Given the description of an element on the screen output the (x, y) to click on. 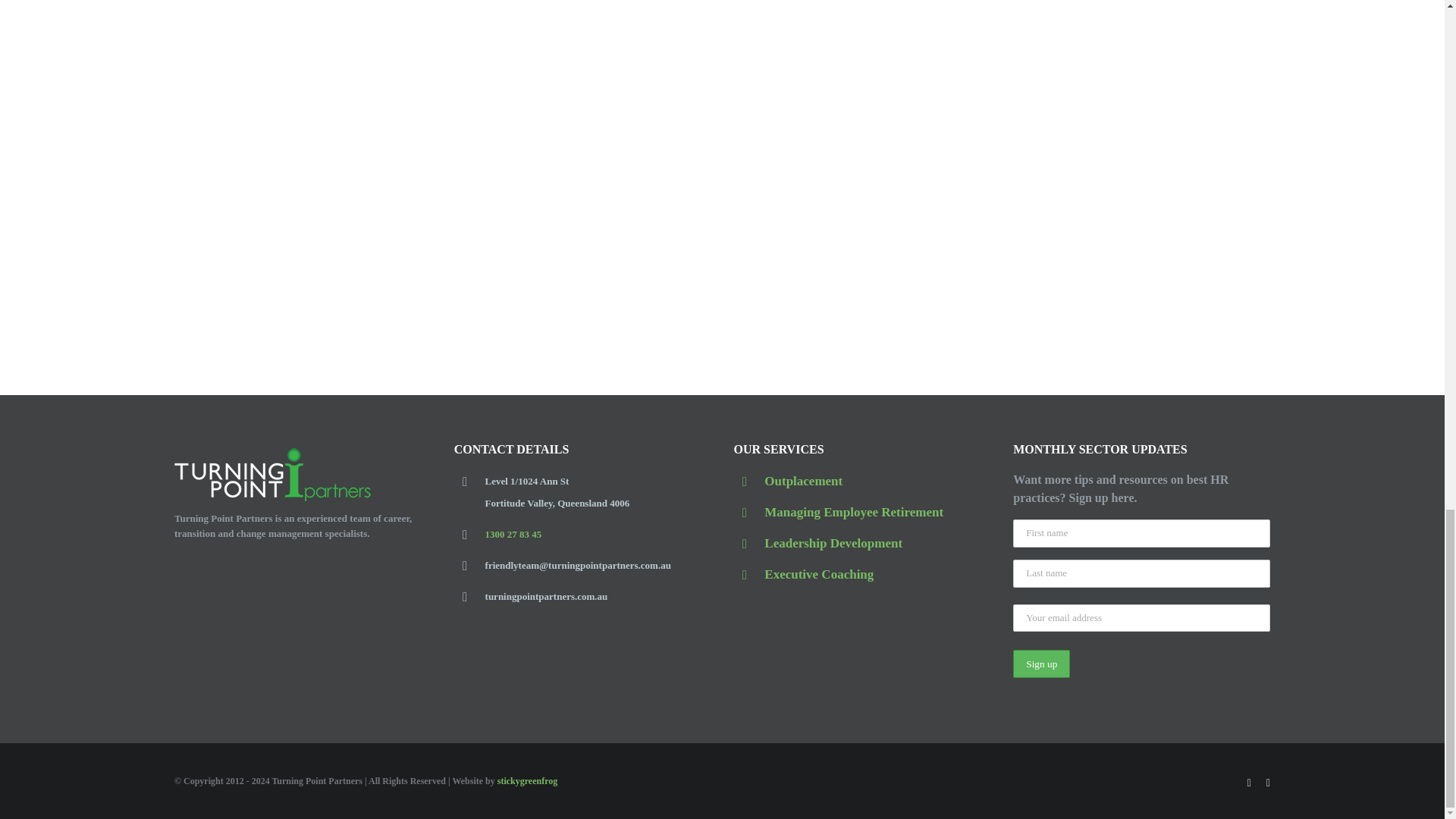
Sign up (1041, 664)
